Given the description of an element on the screen output the (x, y) to click on. 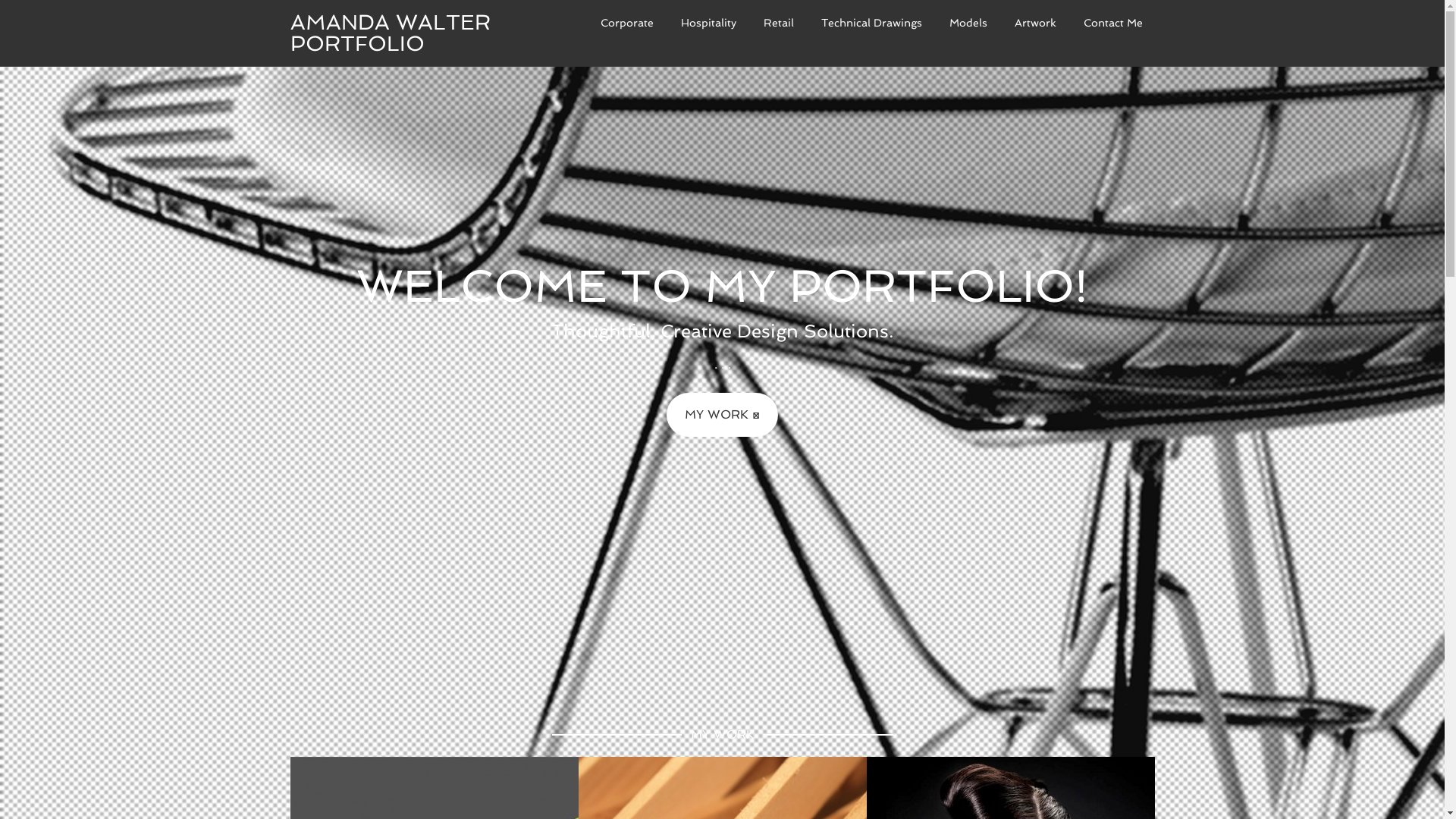
Artwork Element type: text (1035, 23)
Technical Drawings Element type: text (870, 23)
Corporate Element type: text (626, 23)
Lime Studios Element type: text (372, 796)
Prada Retail Store Element type: text (970, 796)
Hospitality Element type: text (708, 23)
Retail Element type: text (777, 23)
Contact Me Element type: text (1112, 23)
Models Element type: text (968, 23)
AMANDA WALTER PORTFOLIO Element type: text (389, 32)
Wood Frame House Model Element type: text (716, 796)
